Given the description of an element on the screen output the (x, y) to click on. 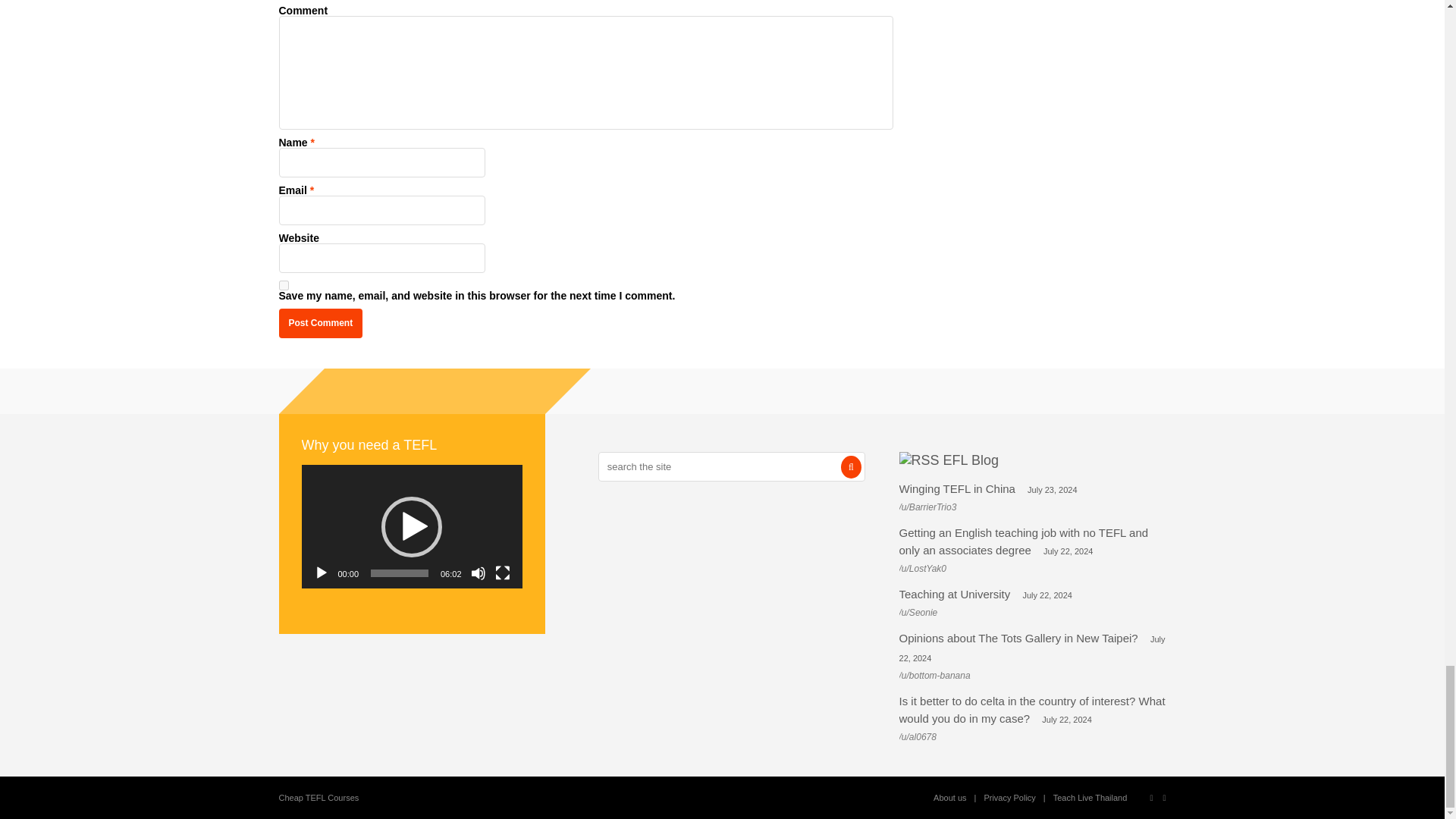
yes (283, 285)
Post Comment (320, 323)
Mute (477, 572)
Play (321, 572)
Winging TEFL in China (956, 488)
Post Comment (320, 323)
EFL Blog (970, 459)
